Given the description of an element on the screen output the (x, y) to click on. 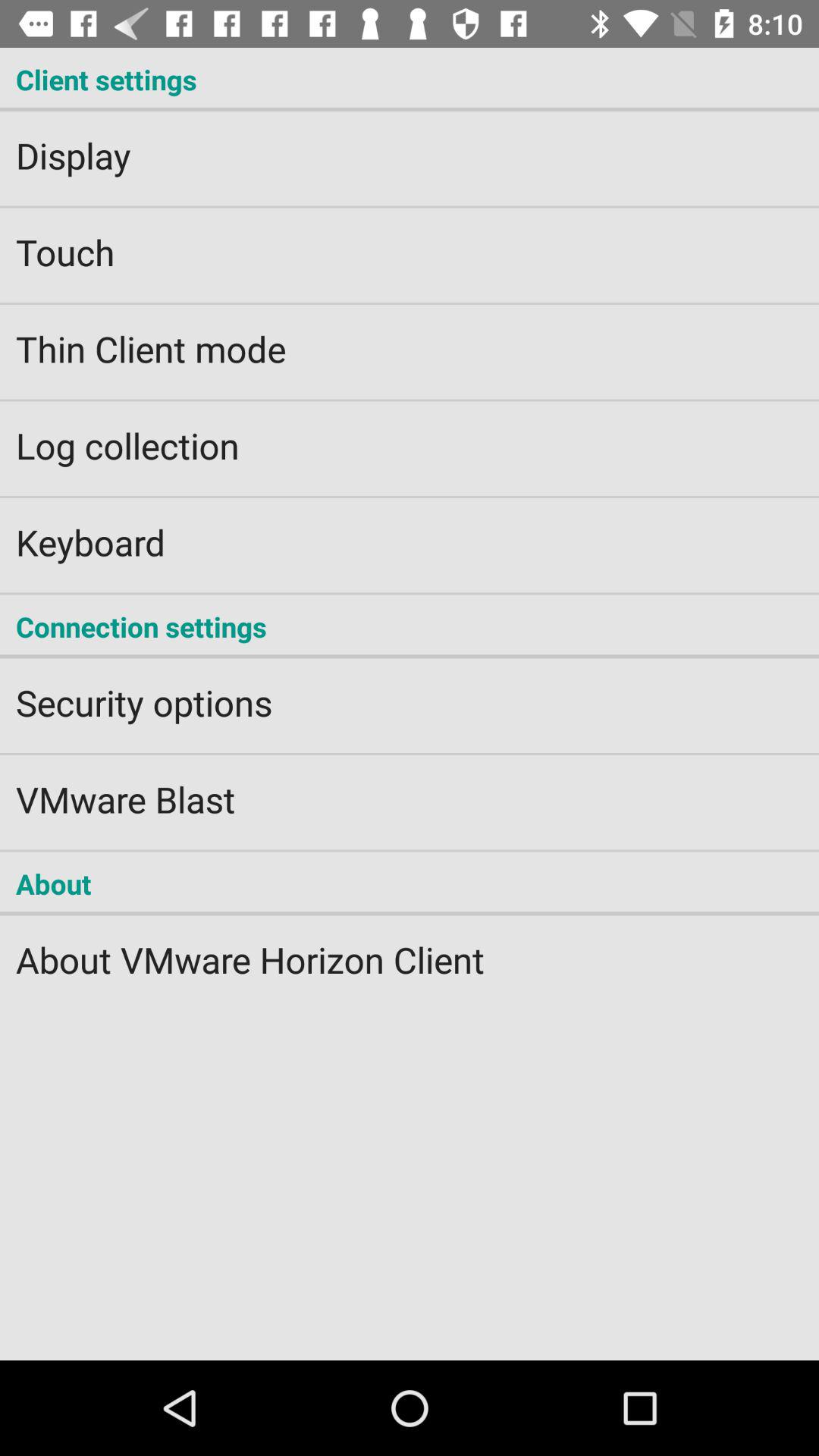
flip until thin client mode app (409, 338)
